Given the description of an element on the screen output the (x, y) to click on. 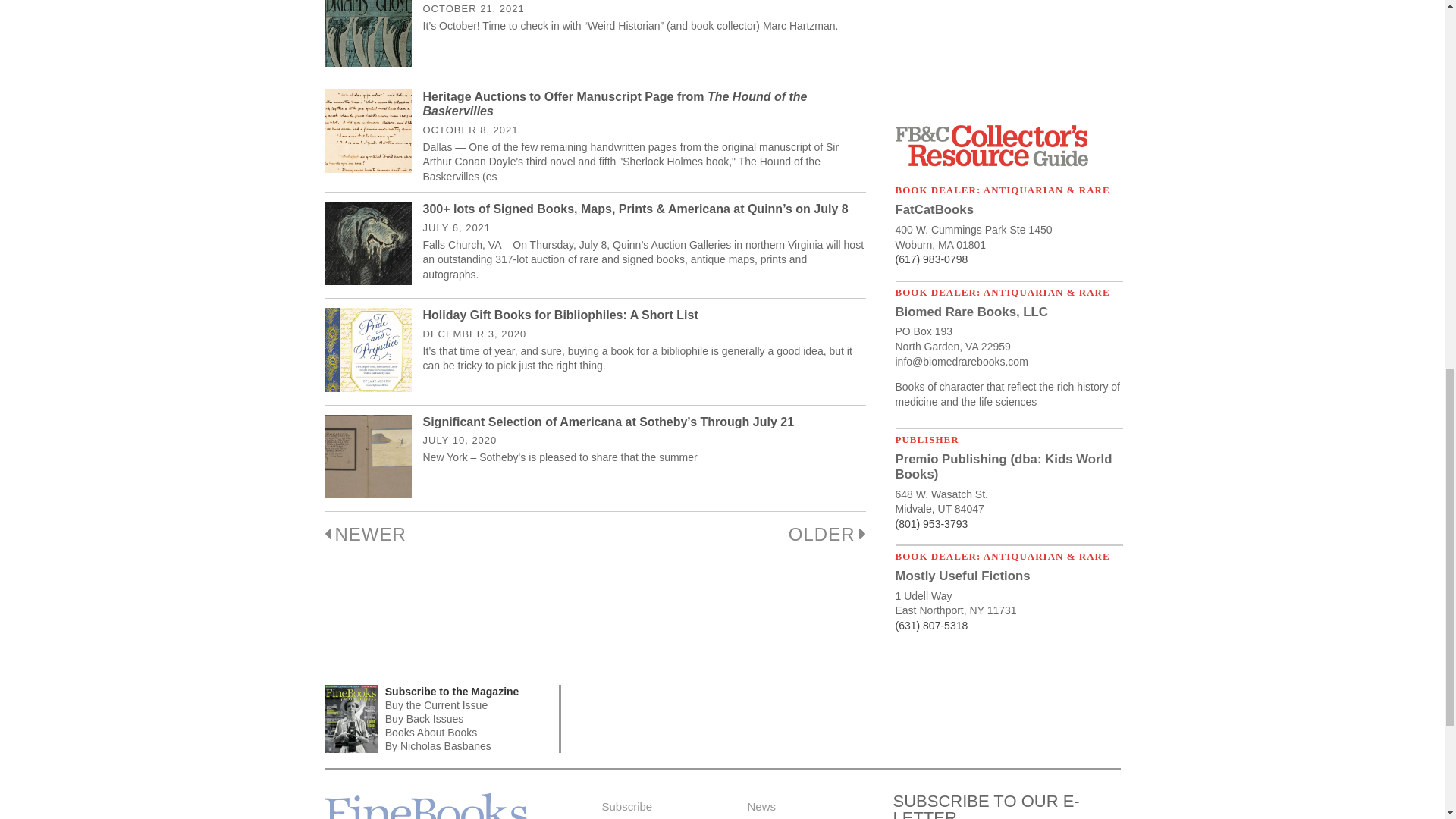
Go to previous page (365, 534)
3rd party ad content (1008, 54)
Go to next page (827, 534)
Holiday Gift Books for Bibliophiles: A Short List (560, 314)
3rd party ad content (845, 718)
